Given the description of an element on the screen output the (x, y) to click on. 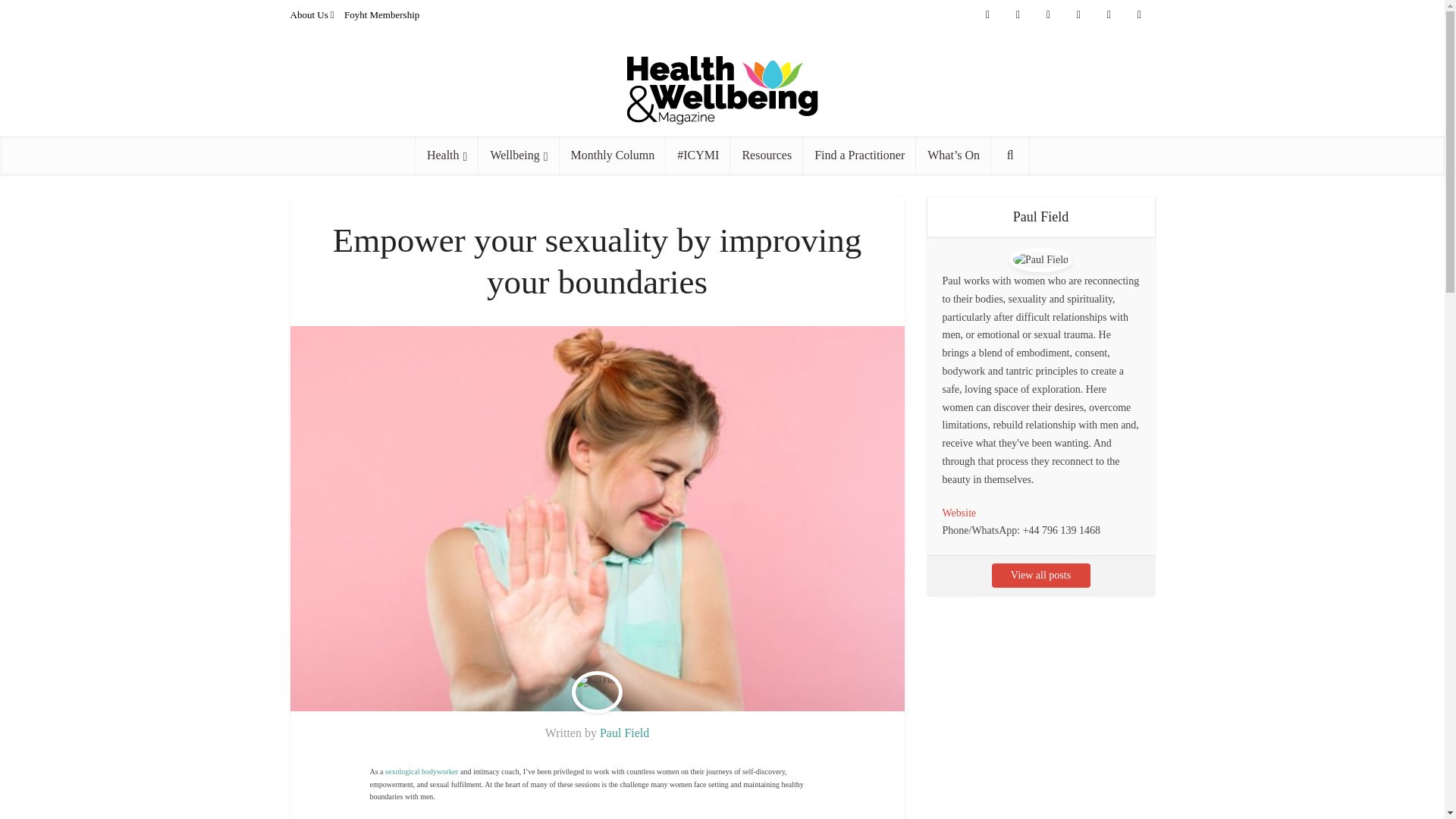
Monthly Column (612, 155)
Resources (766, 155)
Health (446, 155)
Foyht Membership (381, 14)
Wellbeing (519, 155)
About Us (308, 14)
Find a Practitioner (859, 155)
